Given the description of an element on the screen output the (x, y) to click on. 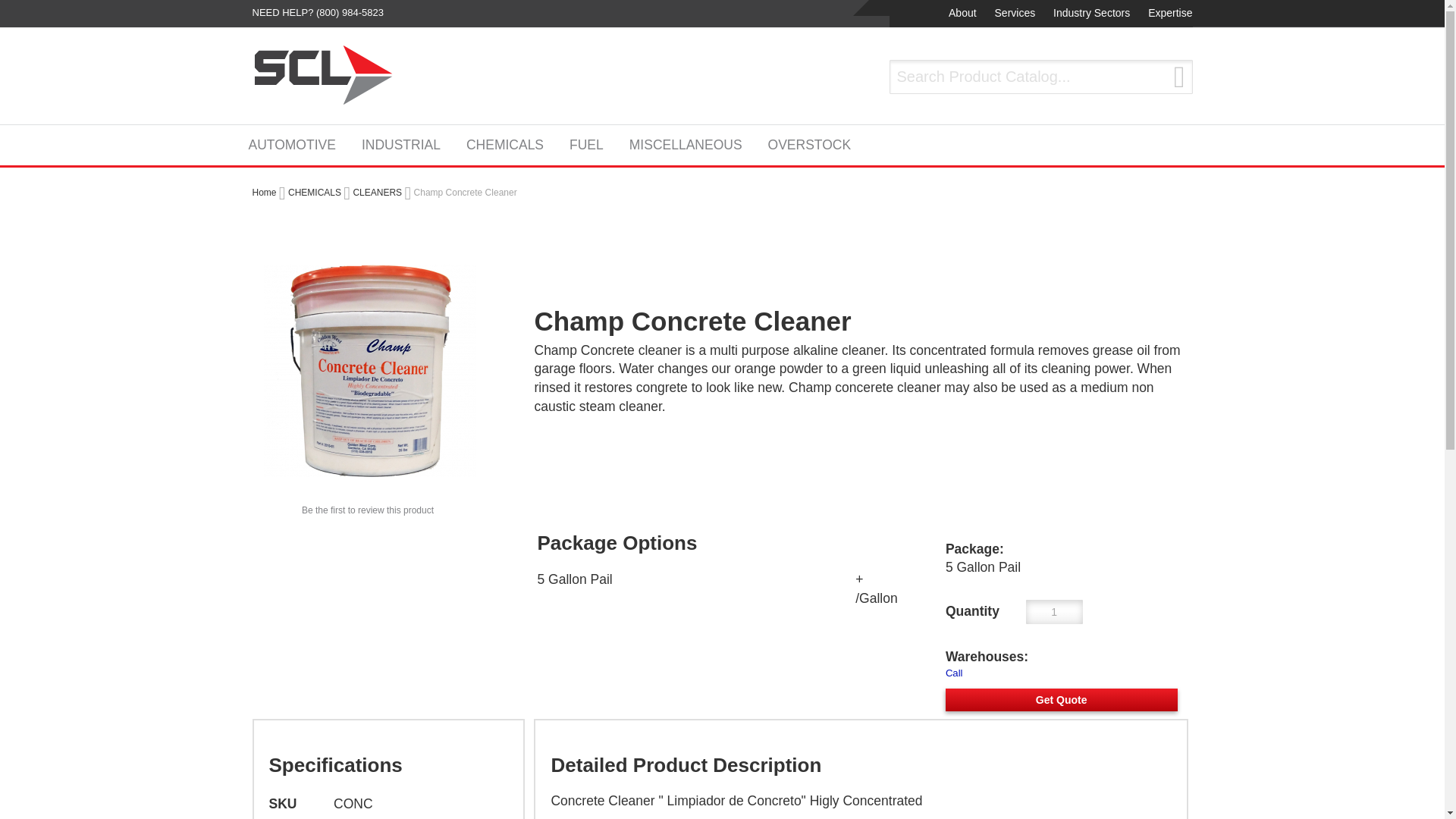
Go to Home Page (263, 191)
Expertise (1168, 13)
About (960, 13)
AUTOMOTIVE (296, 143)
Industry Sectors (1089, 13)
Services (1013, 13)
Get Quote (1060, 699)
1 (1054, 611)
SCL - Lubricants (322, 75)
Qty (1054, 611)
Availability: (1060, 673)
